Given the description of an element on the screen output the (x, y) to click on. 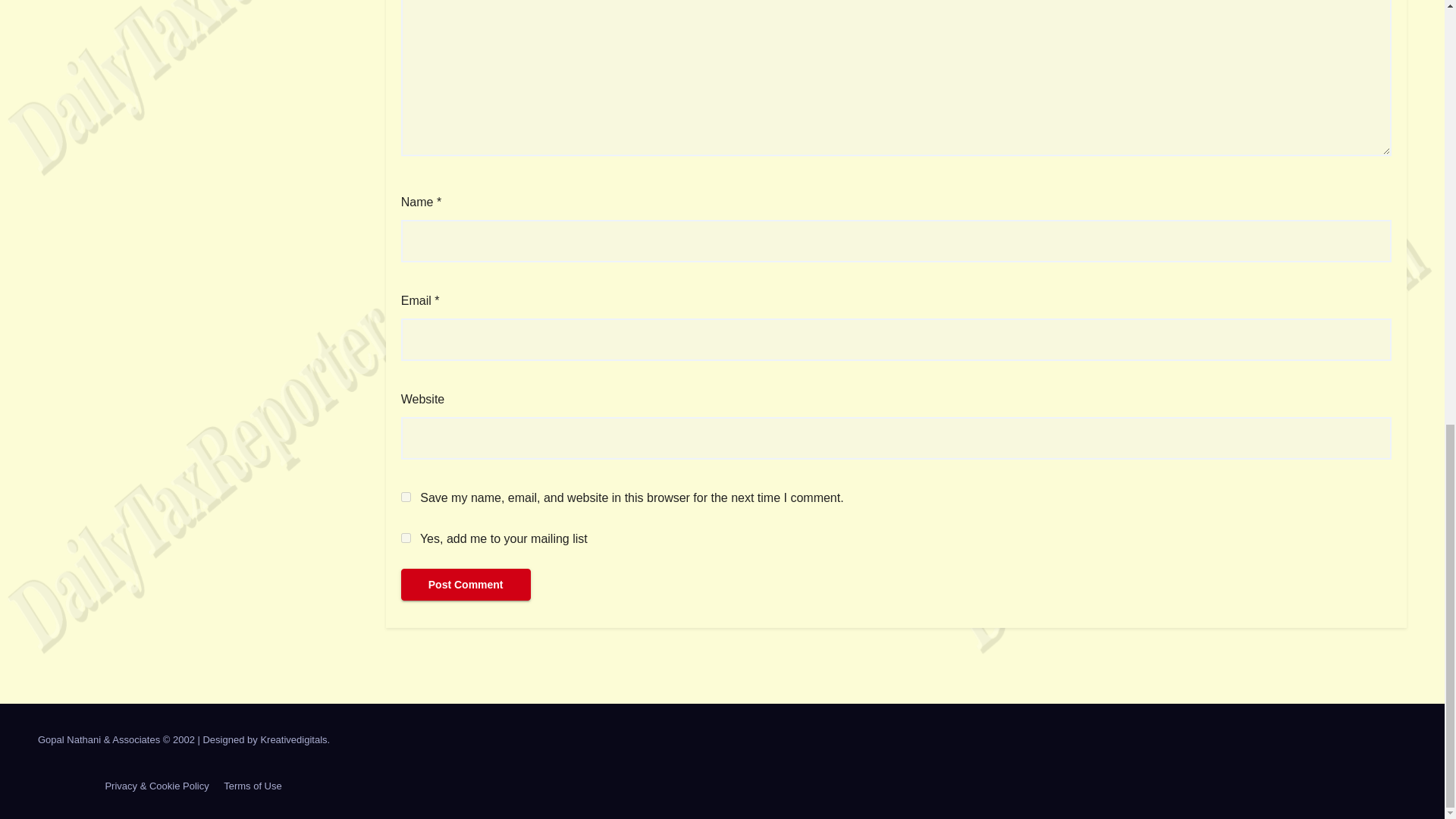
1 (405, 537)
Post Comment (466, 584)
yes (405, 497)
